Given the description of an element on the screen output the (x, y) to click on. 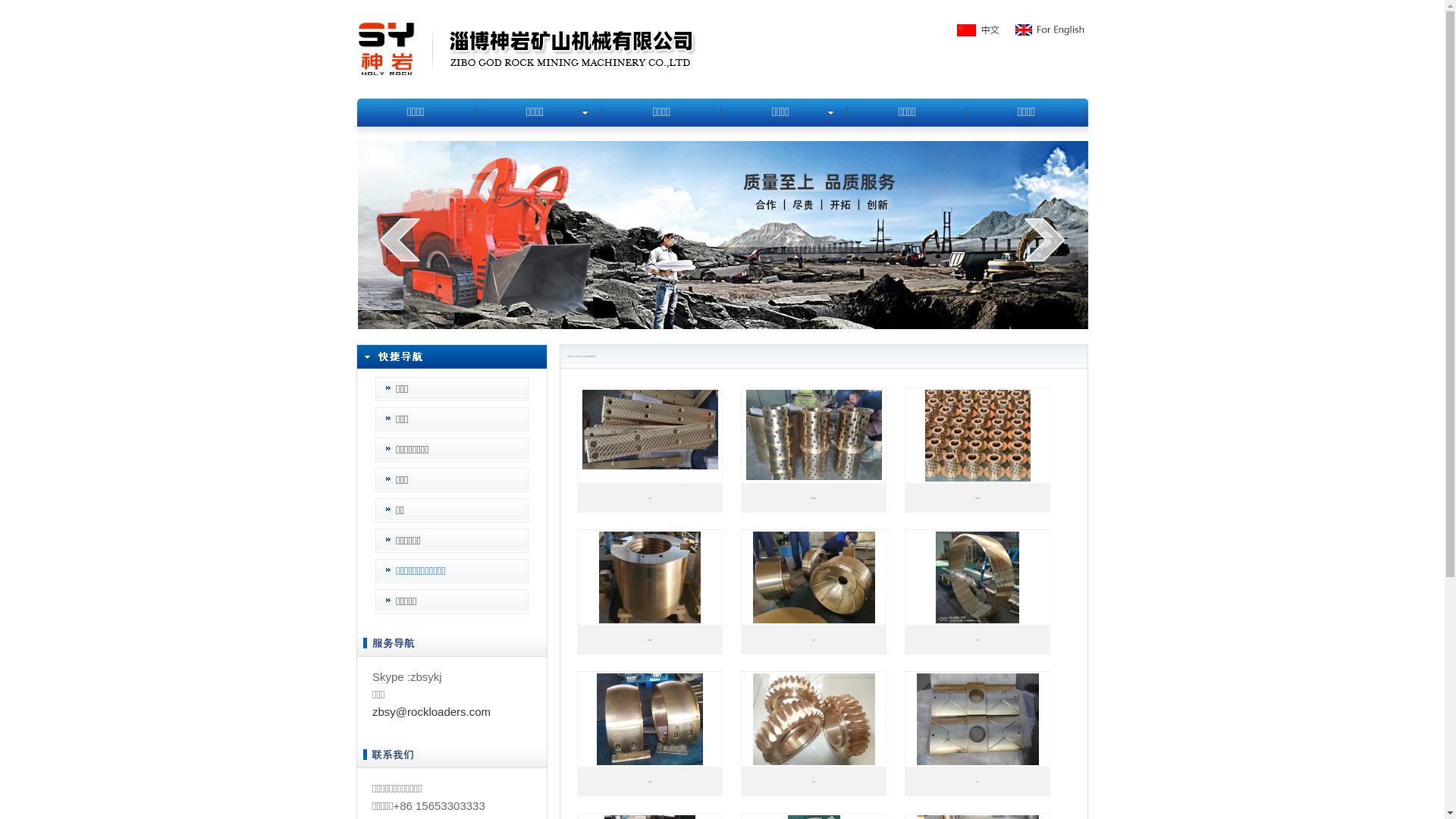
zbsy@rockloaders.com Element type: text (431, 711)
next Element type: text (1044, 239)
prev Element type: text (399, 239)
